Given the description of an element on the screen output the (x, y) to click on. 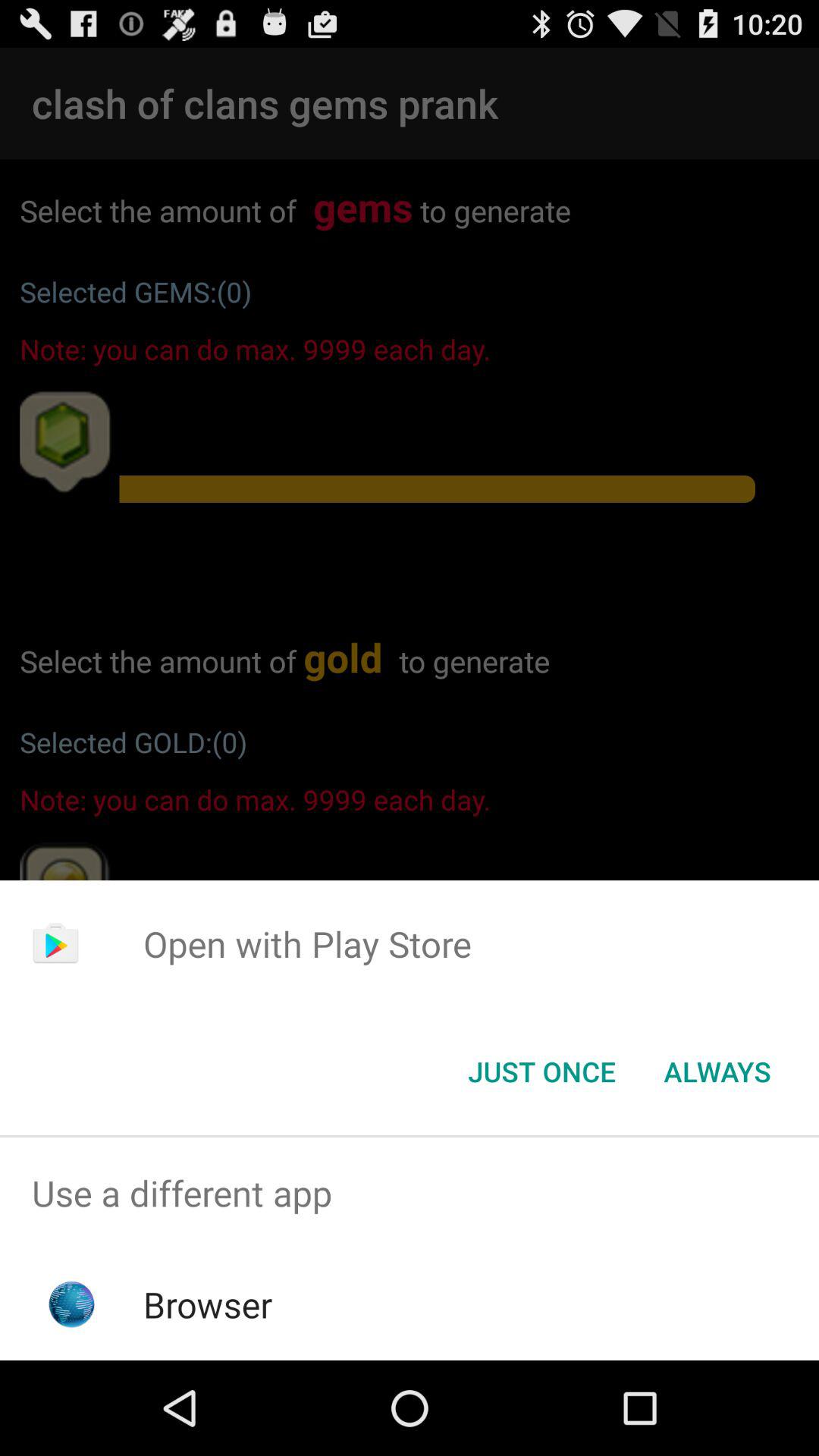
turn off item to the left of always icon (541, 1071)
